Given the description of an element on the screen output the (x, y) to click on. 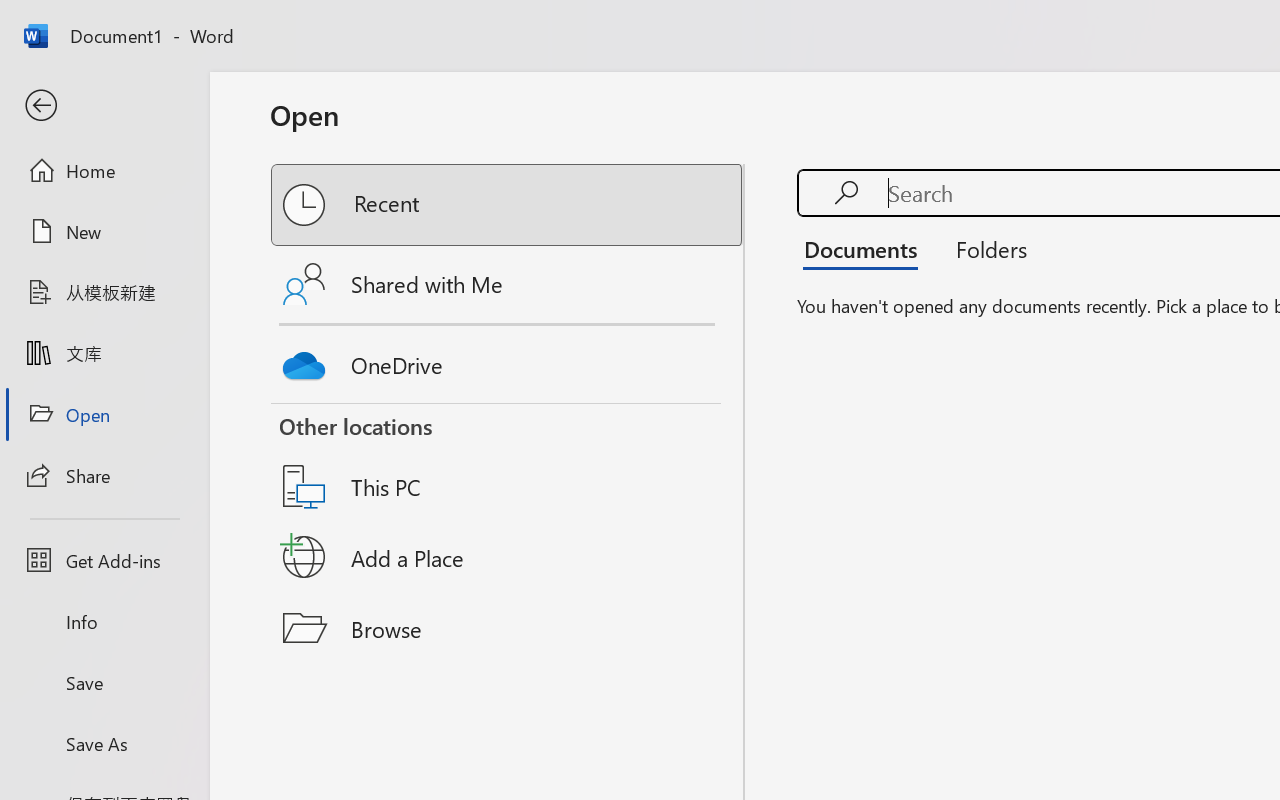
New (104, 231)
Save As (104, 743)
Recent (507, 205)
Documents (866, 248)
Shared with Me (507, 283)
Get Add-ins (104, 560)
Add a Place (507, 557)
Folders (984, 248)
